Given the description of an element on the screen output the (x, y) to click on. 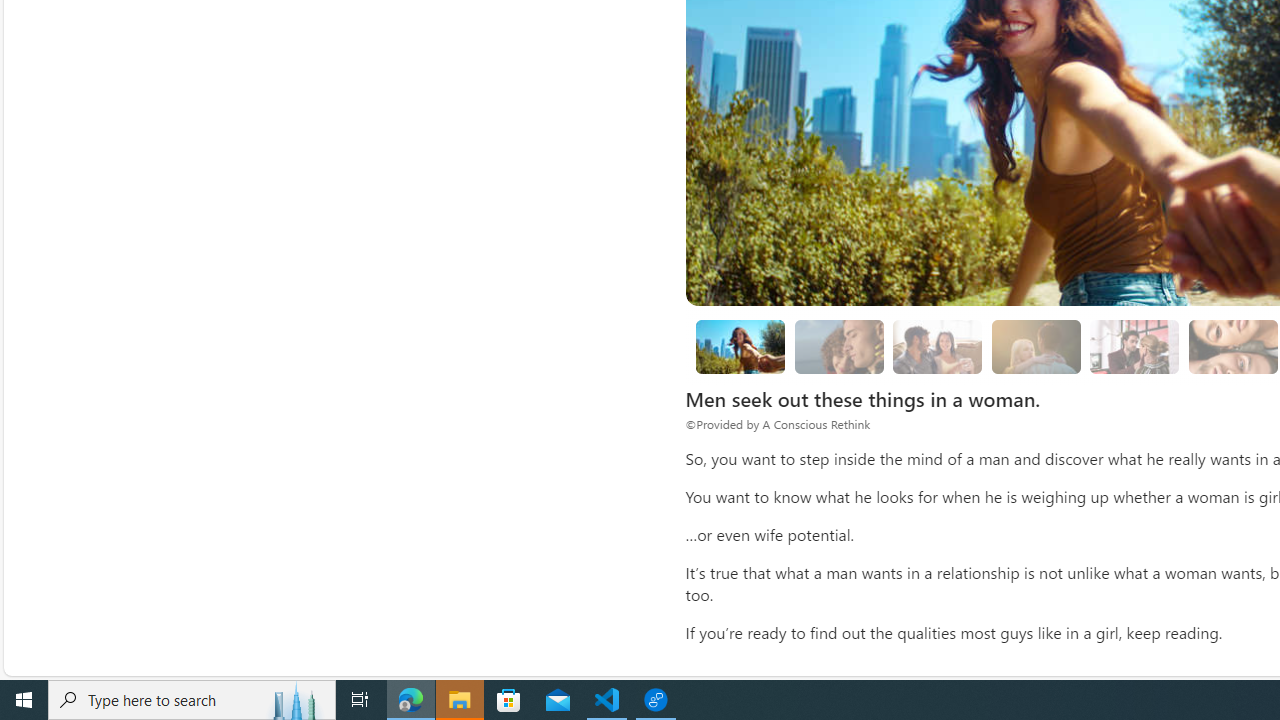
Dislike (887, 170)
tab-2 (543, 175)
See more (753, 175)
33 Like (843, 170)
tab-0 (520, 175)
The Associated Press (526, 101)
View comments 10 Comment (923, 169)
Reuters (526, 27)
tab-1 (532, 175)
View comments 10 Comment (932, 170)
